Given the description of an element on the screen output the (x, y) to click on. 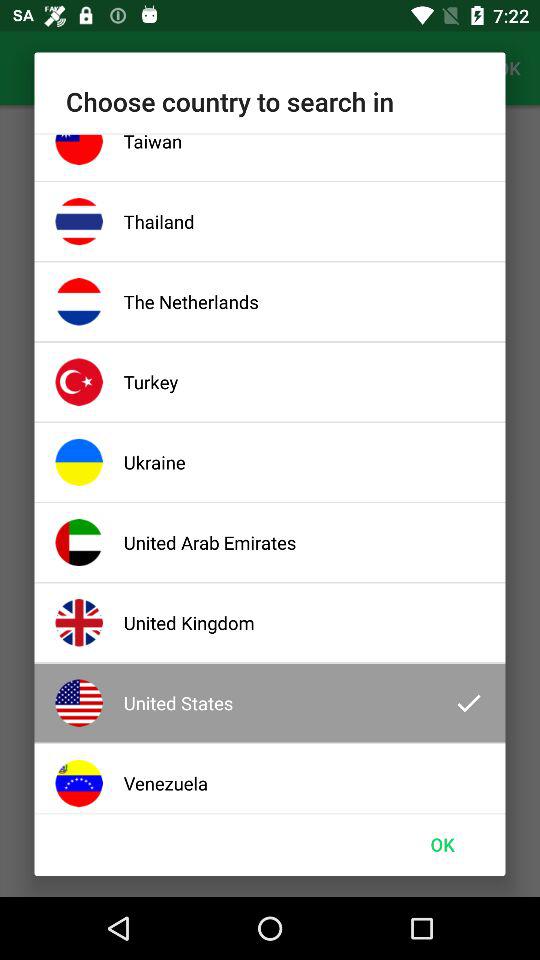
turn on the item below venezuela item (442, 844)
